Given the description of an element on the screen output the (x, y) to click on. 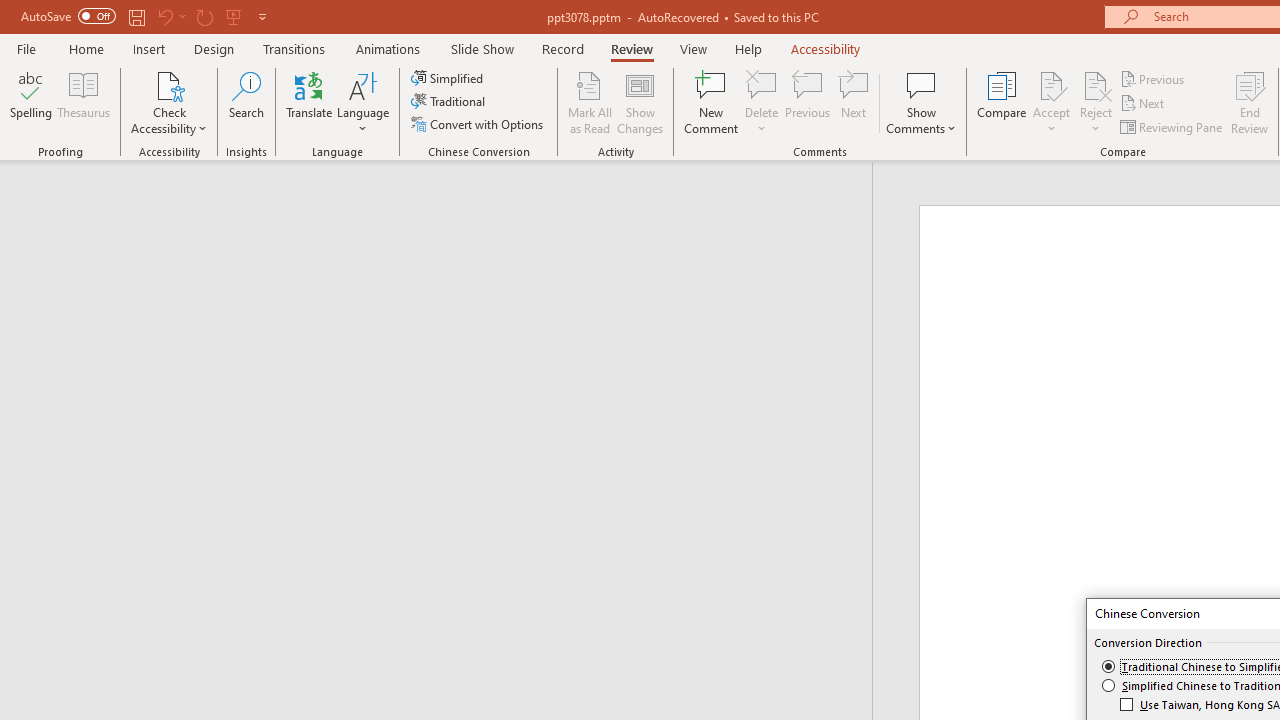
Accept Change (1051, 84)
Accept (1051, 102)
New Comment (711, 102)
Compare (1002, 102)
Thesaurus... (83, 102)
Traditional (449, 101)
Reject Change (1096, 84)
